Given the description of an element on the screen output the (x, y) to click on. 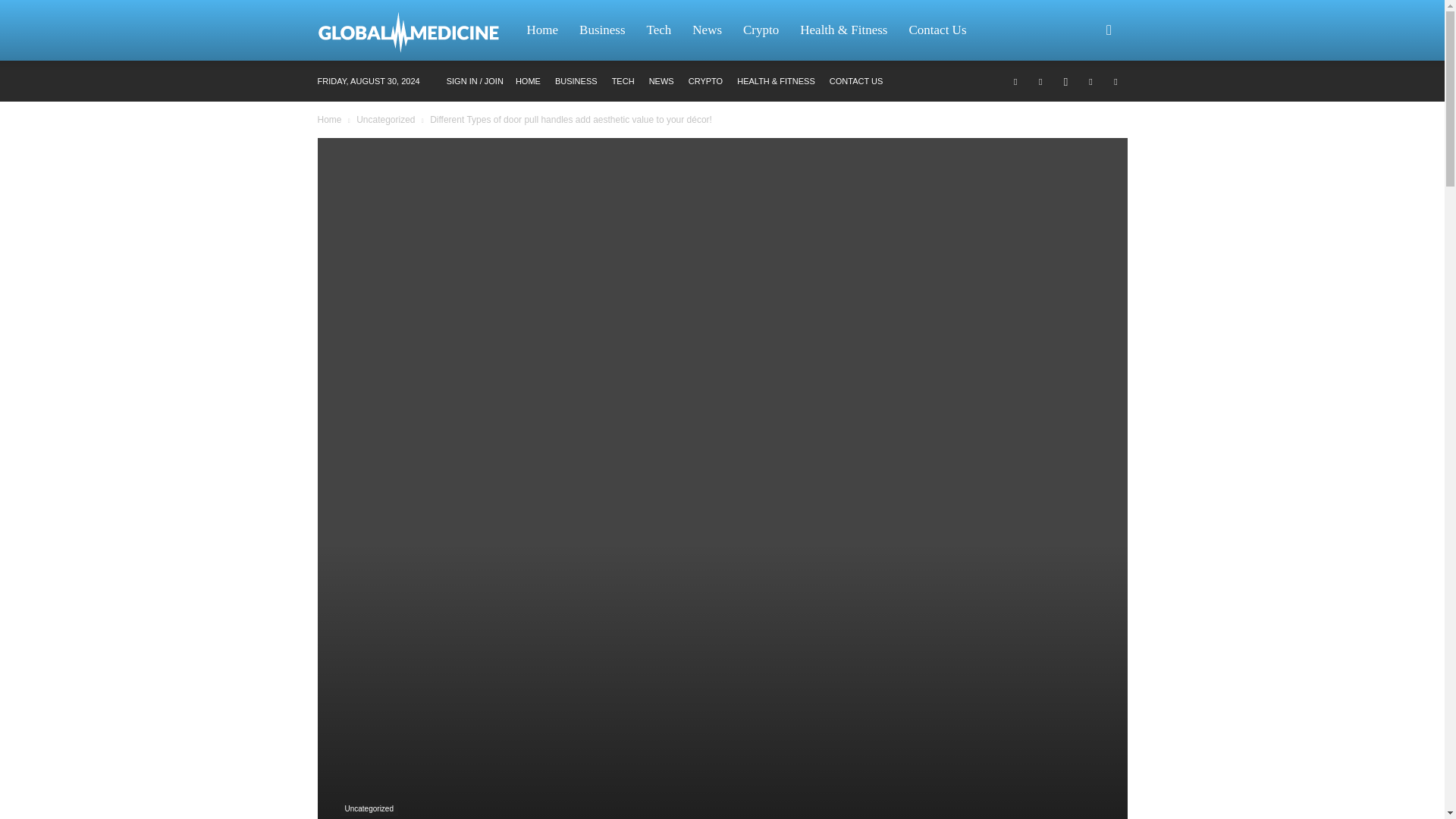
NEWS (661, 80)
Search (1085, 102)
View all posts in Uncategorized (385, 119)
HOME (527, 80)
Business (601, 30)
TECH (622, 80)
Crypto (760, 30)
BUSINESS (575, 80)
DailyTimeZone (416, 30)
Contact Us (937, 30)
